Given the description of an element on the screen output the (x, y) to click on. 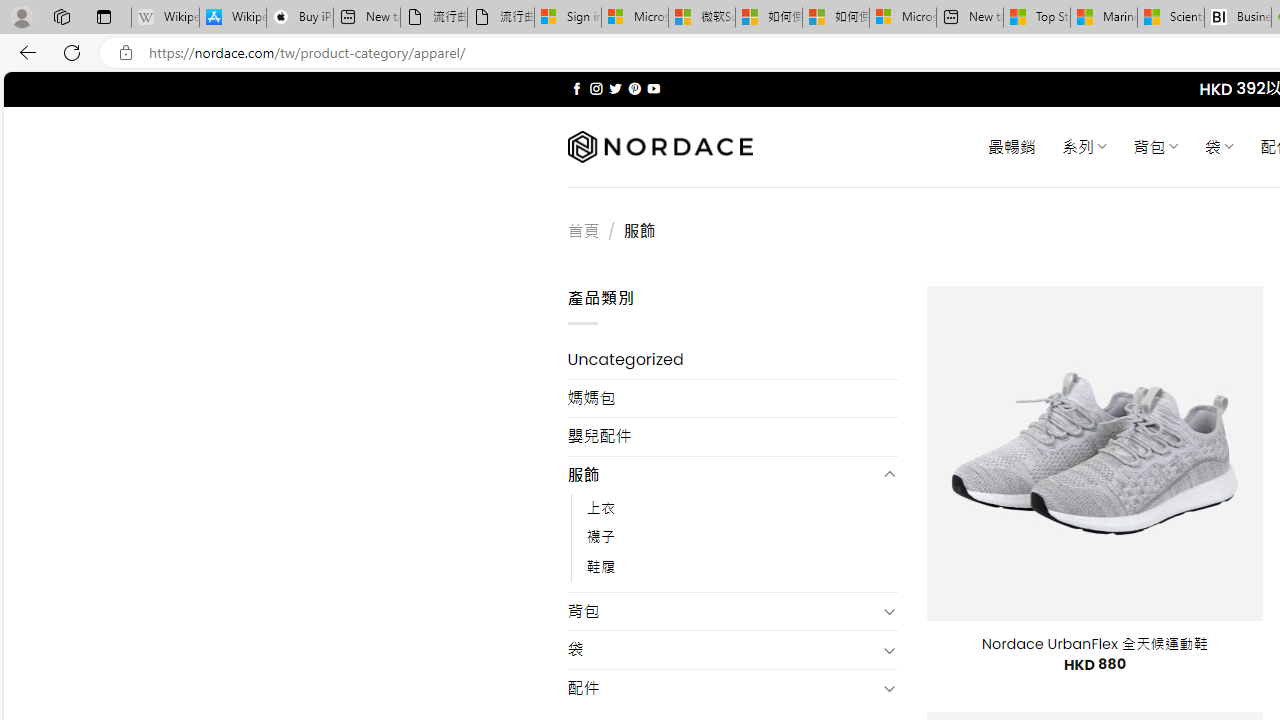
Uncategorized (732, 359)
Uncategorized (732, 359)
Marine life - MSN (1103, 17)
Follow on Facebook (576, 88)
